Given the description of an element on the screen output the (x, y) to click on. 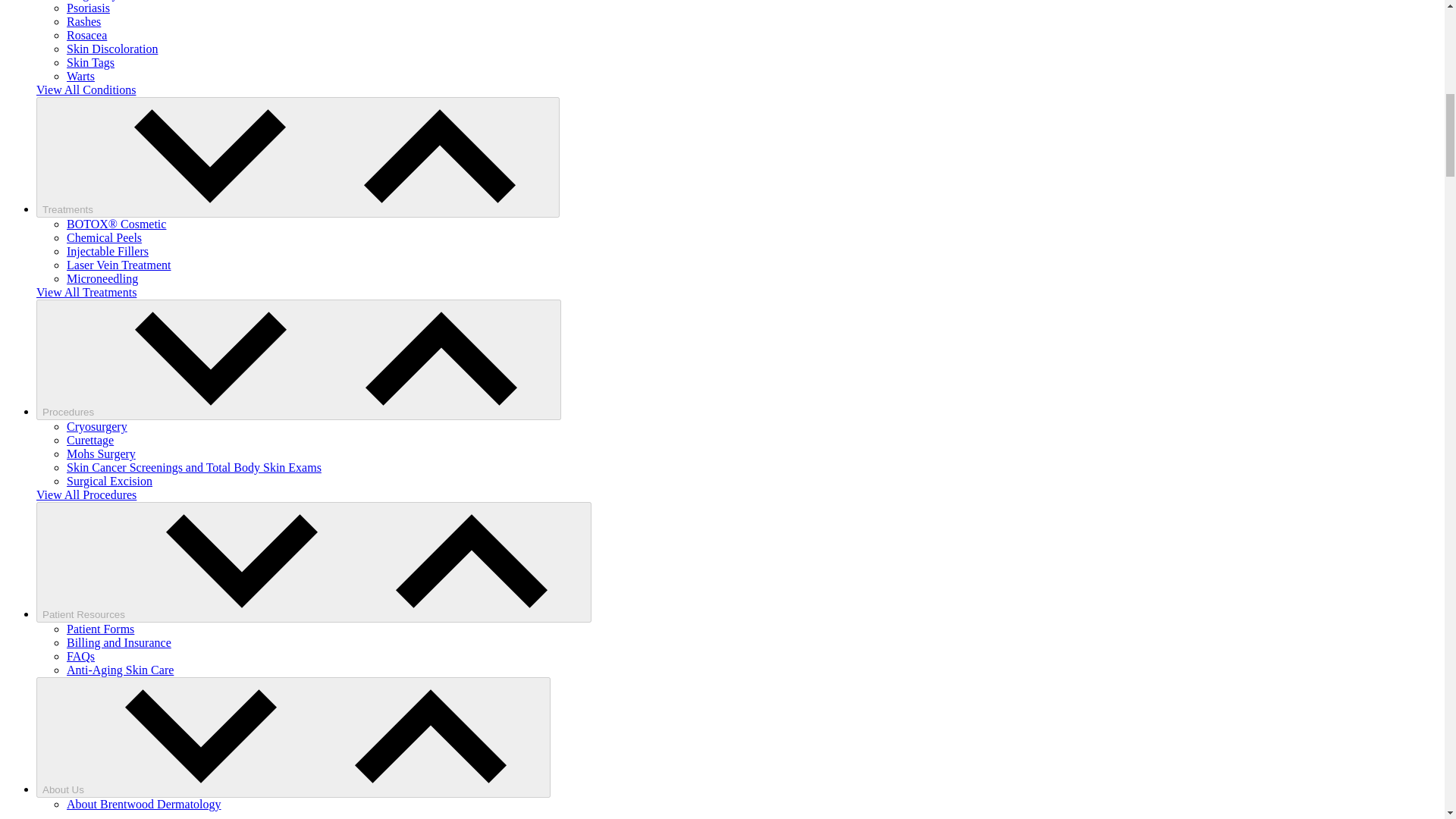
Rashes (83, 21)
View All Conditions (86, 89)
Injectable Fillers (107, 250)
Skin Discoloration (111, 48)
Chemical Peels (103, 237)
Procedures (298, 359)
Curettage (89, 440)
Laser Vein Treatment (118, 264)
Cryosurgery (97, 426)
View All Treatments (86, 291)
Microneedling (102, 278)
Psoriasis (88, 7)
Warts (80, 75)
Treatments (297, 157)
Skin Tags (90, 62)
